Given the description of an element on the screen output the (x, y) to click on. 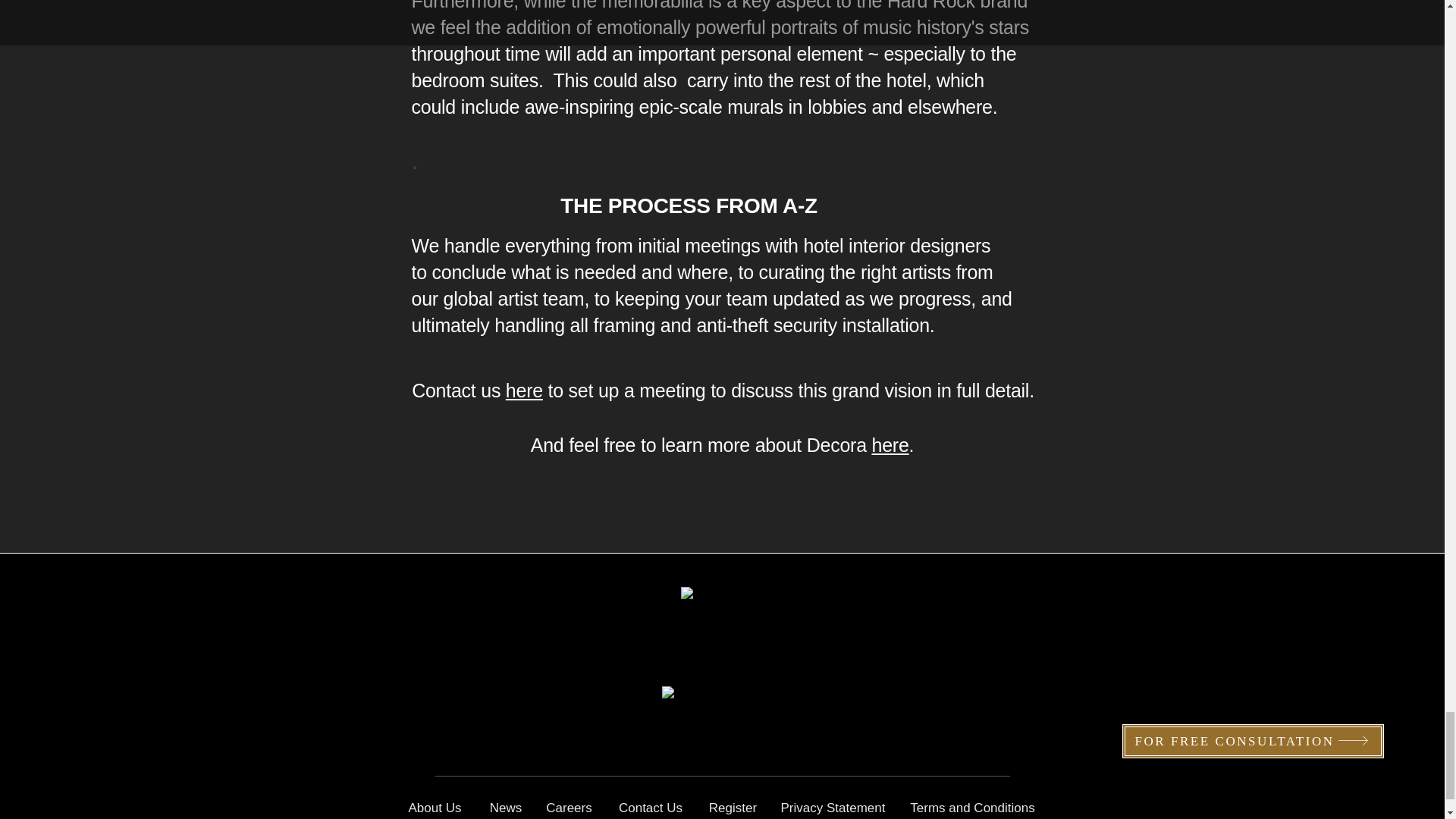
here (890, 444)
Register (732, 806)
News (505, 806)
About Us (434, 806)
Terms and Conditions (972, 806)
here (524, 390)
Privacy Statement (831, 806)
Contact Us (650, 806)
Careers (569, 806)
